Given the description of an element on the screen output the (x, y) to click on. 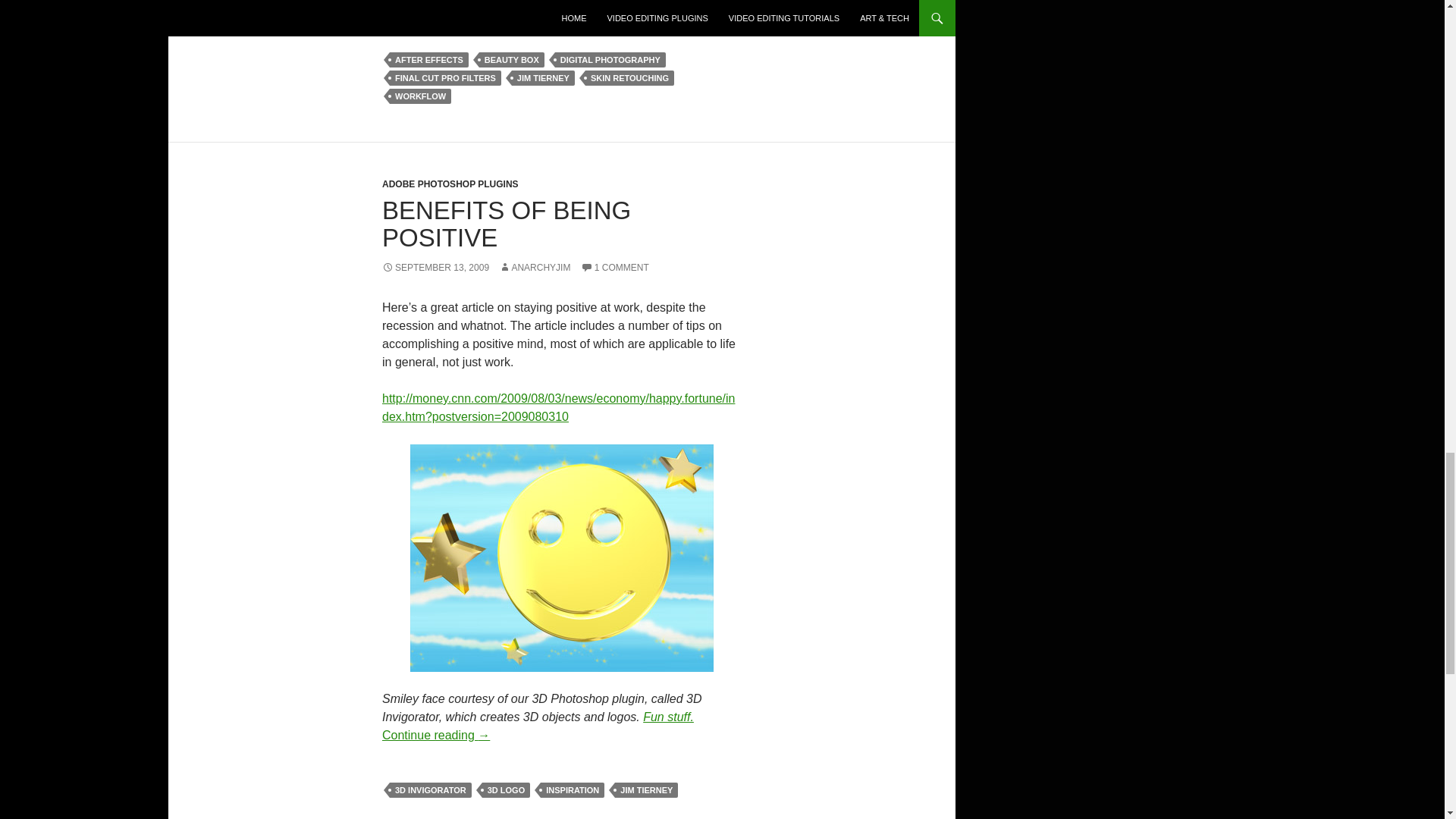
BENEFITS OF BEING POSITIVE (505, 223)
1 COMMENT (614, 267)
WORKFLOW (420, 96)
ANARCHYJIM (534, 267)
FINAL CUT PRO FILTERS (445, 77)
SKIN RETOUCHING (629, 77)
JIM TIERNEY (543, 77)
SEPTEMBER 13, 2009 (435, 267)
AFTER EFFECTS (429, 59)
BEAUTY BOX (511, 59)
ADOBE PHOTOSHOP PLUGINS (449, 184)
DIGITAL PHOTOGRAPHY (609, 59)
Positively smiley (561, 557)
